Given the description of an element on the screen output the (x, y) to click on. 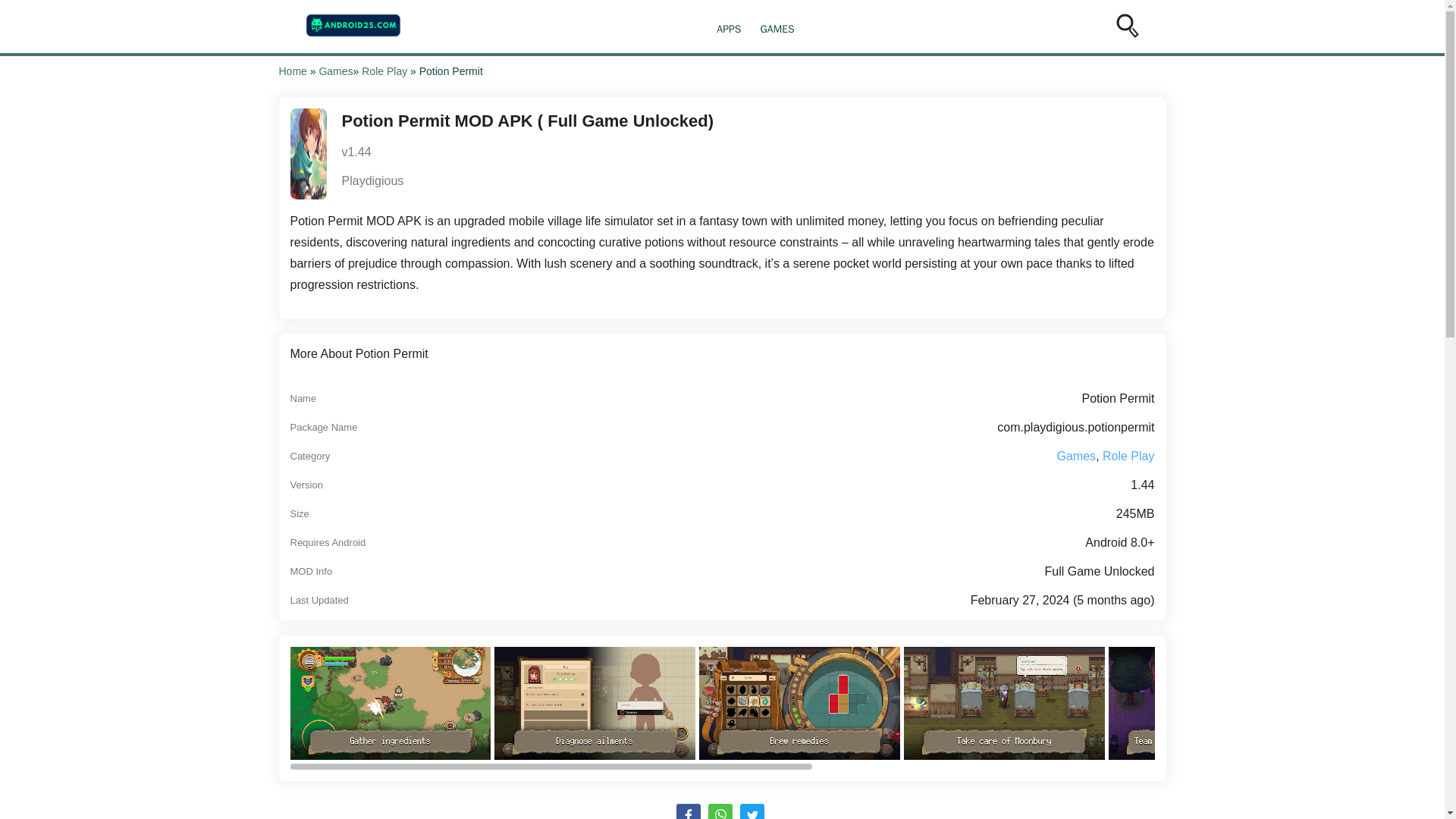
APPS (728, 29)
Home (293, 70)
Games (335, 70)
Role Play (384, 70)
Games (1076, 454)
Potion Permit logo (307, 153)
GAMES (777, 29)
Role Play (1128, 454)
